Given the description of an element on the screen output the (x, y) to click on. 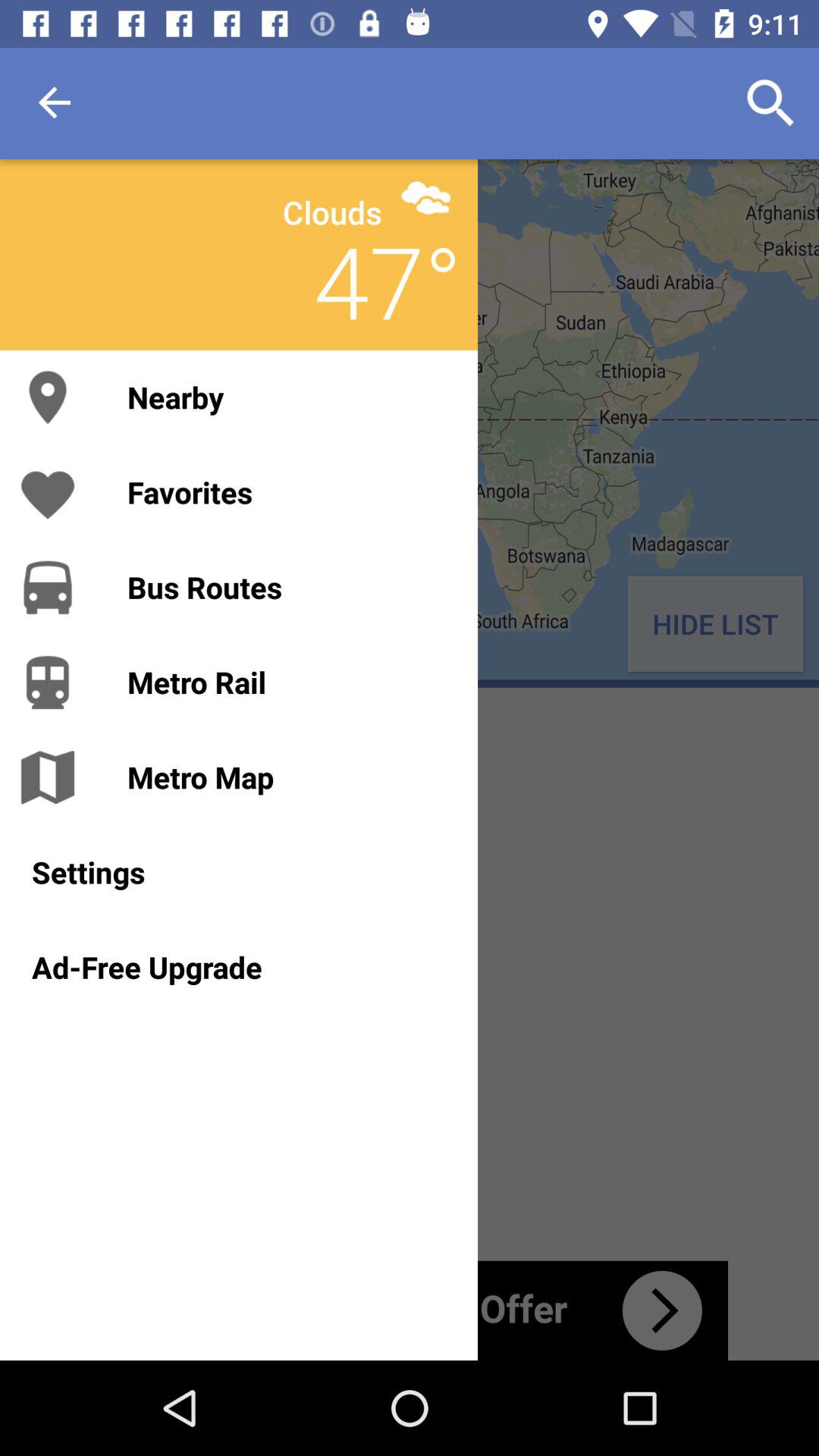
open item next to hide list icon (286, 587)
